Given the description of an element on the screen output the (x, y) to click on. 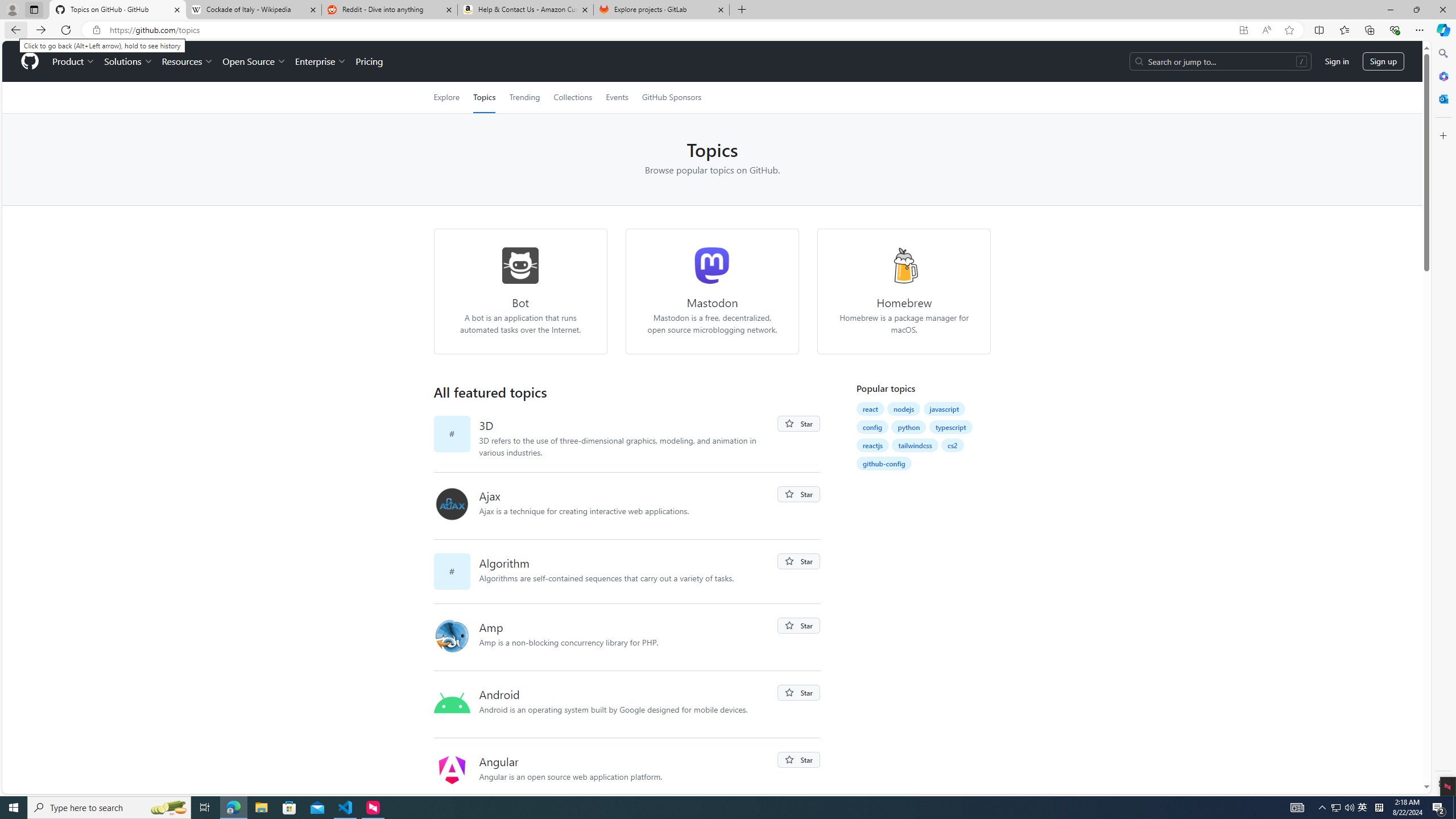
ajax (451, 504)
Topics (484, 97)
mastodon (712, 265)
typescript (951, 426)
HomebrewHomebrew is a package manager for macOS. (904, 291)
python (908, 427)
